Given the description of an element on the screen output the (x, y) to click on. 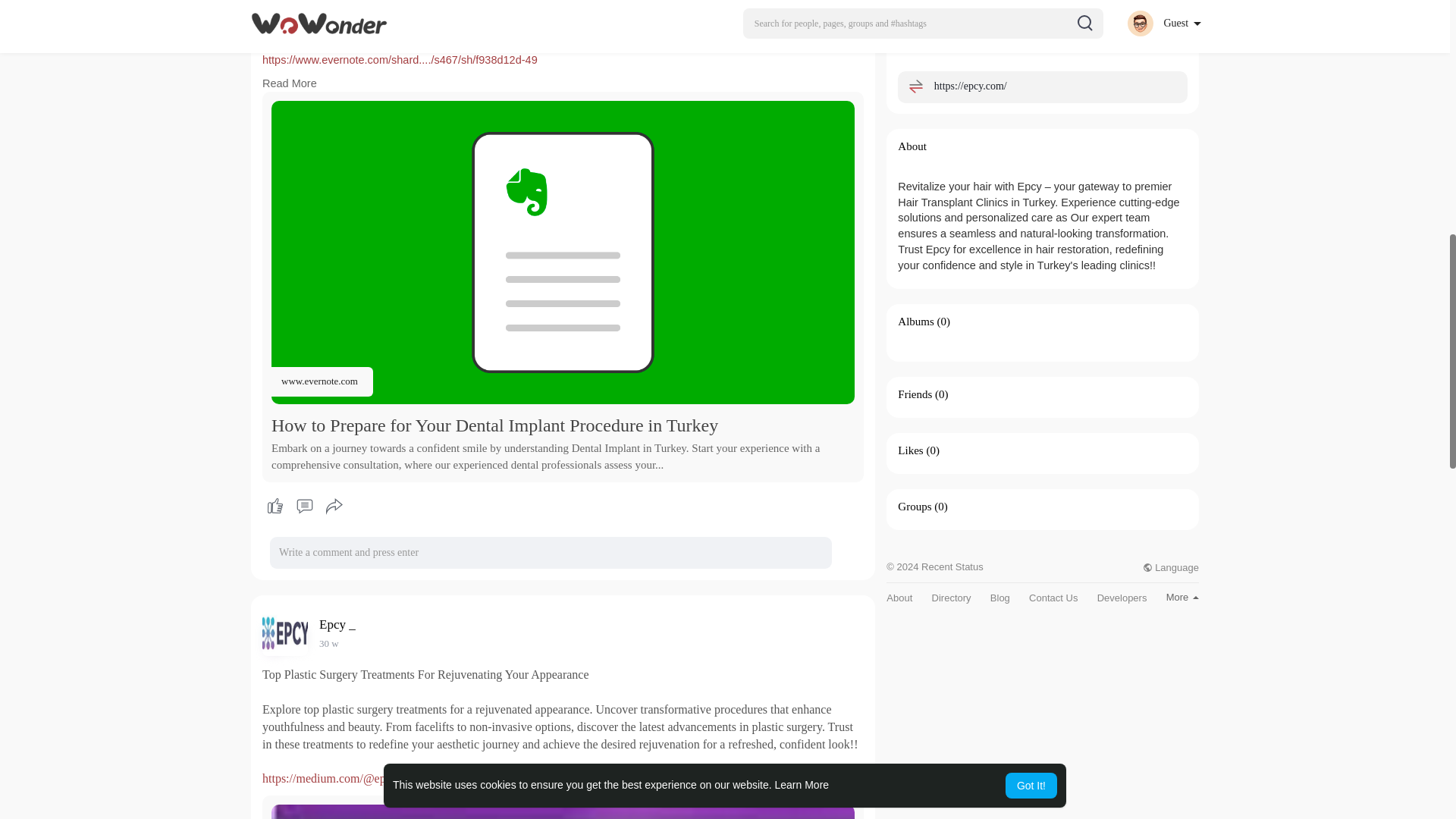
Share (334, 506)
About (899, 597)
Groups (914, 506)
Likes (910, 450)
Albums (916, 321)
Friends (914, 394)
Directory (951, 597)
Contact Us (1053, 597)
30 w (328, 643)
Comments (304, 506)
30 w (328, 643)
Language (1170, 567)
Blog (1000, 597)
Read More (289, 82)
